Given the description of an element on the screen output the (x, y) to click on. 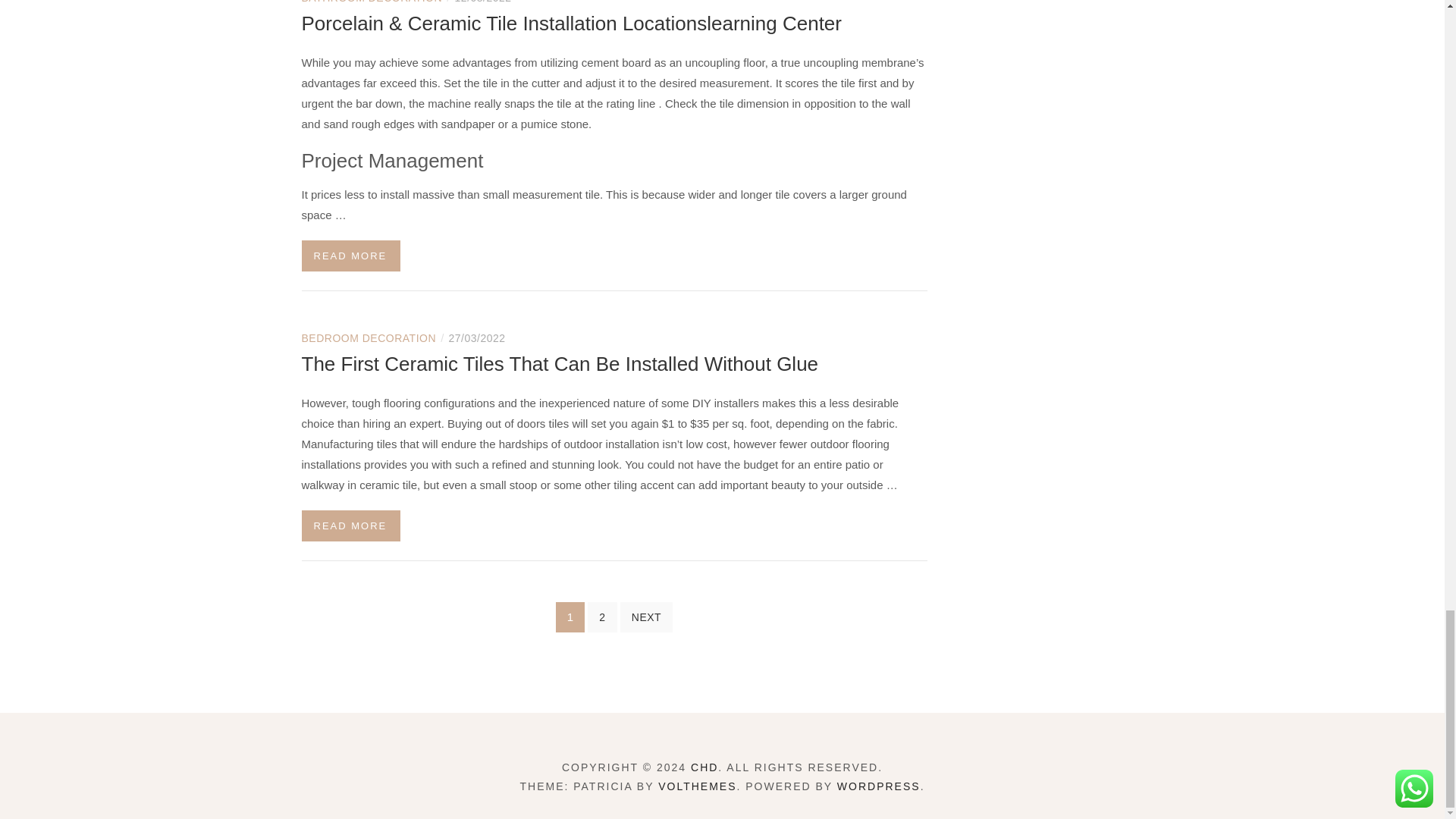
WordPress (878, 786)
VolThemes (697, 786)
CHD (703, 767)
